Given the description of an element on the screen output the (x, y) to click on. 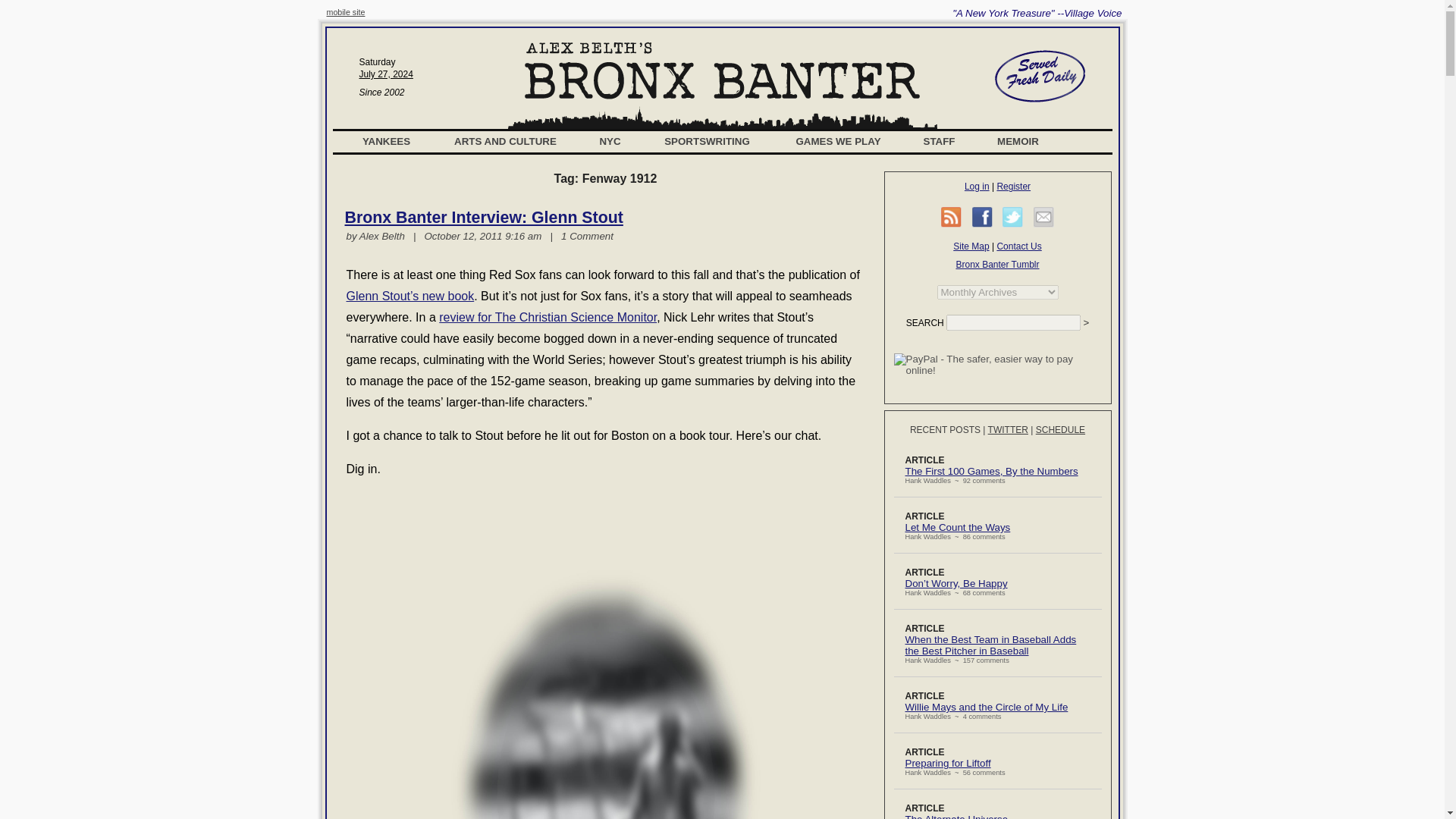
Share on Facebook (982, 217)
Subscription feed (950, 217)
NYC (610, 141)
YANKEES (386, 141)
Permanent link to Let Me Count the Ways (957, 527)
Share via email (1043, 217)
mobile site (345, 11)
Permanent link to The First 100 Games, By the Numbers (991, 471)
ARTS AND CULTURE (504, 141)
Share on Twitter (1013, 217)
